Given the description of an element on the screen output the (x, y) to click on. 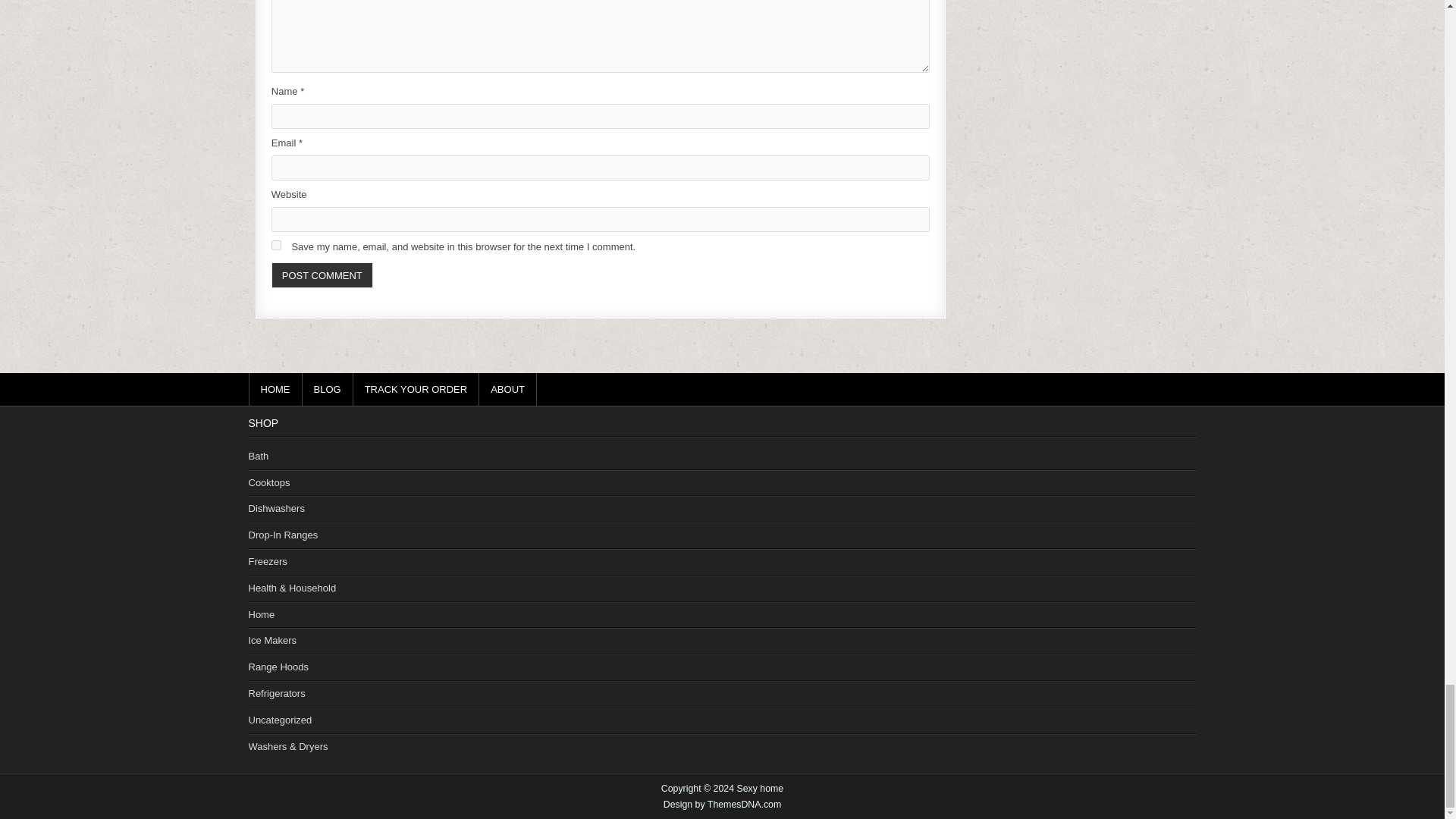
yes (275, 245)
BLOG (326, 389)
Post Comment (321, 274)
Bath (258, 455)
Cooktops (268, 482)
HOME (275, 389)
Drop-In Ranges (283, 534)
ABOUT (508, 389)
Post Comment (321, 274)
Dishwashers (276, 508)
